Given the description of an element on the screen output the (x, y) to click on. 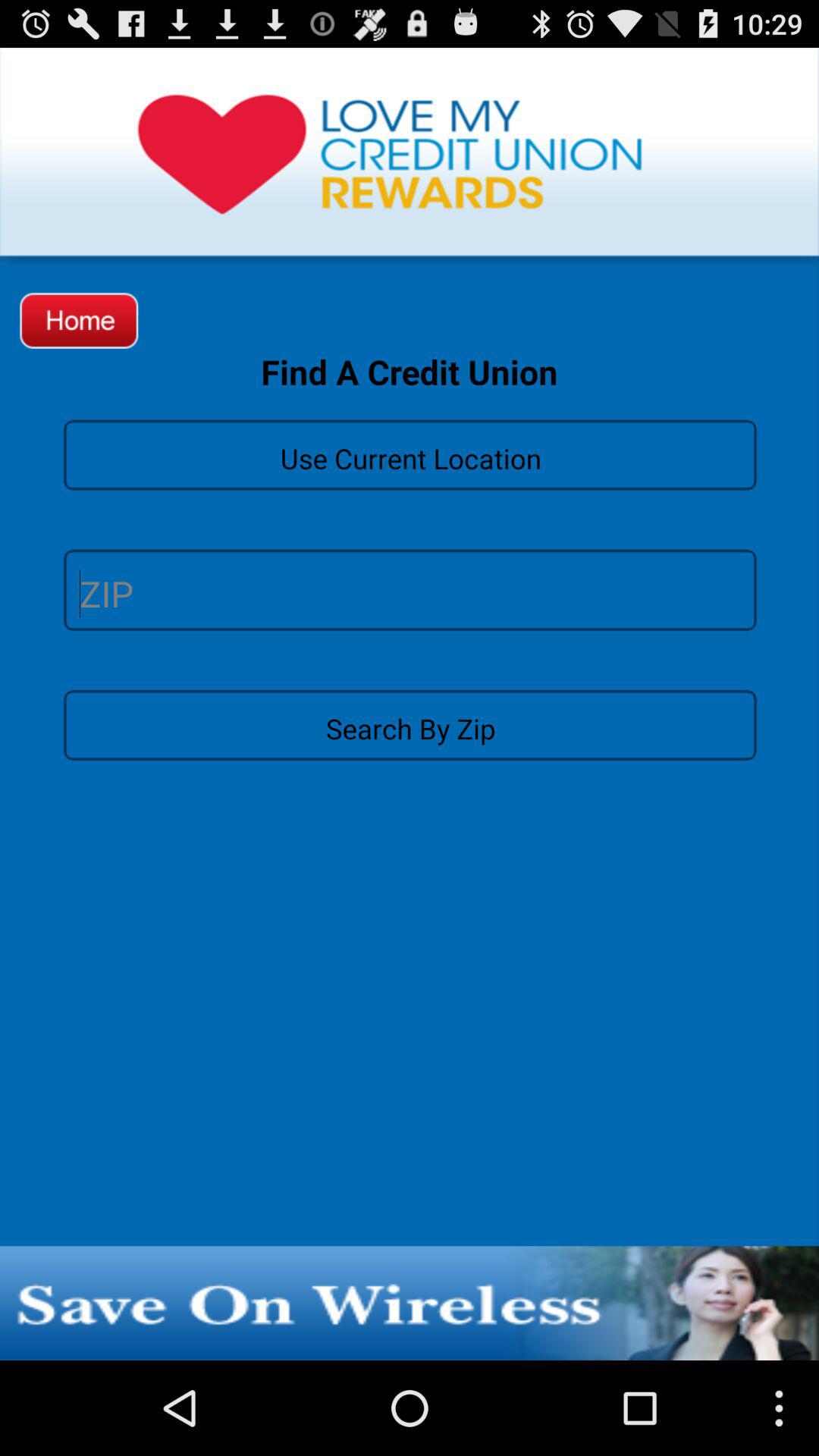
select the icon at the top left corner (78, 320)
